Given the description of an element on the screen output the (x, y) to click on. 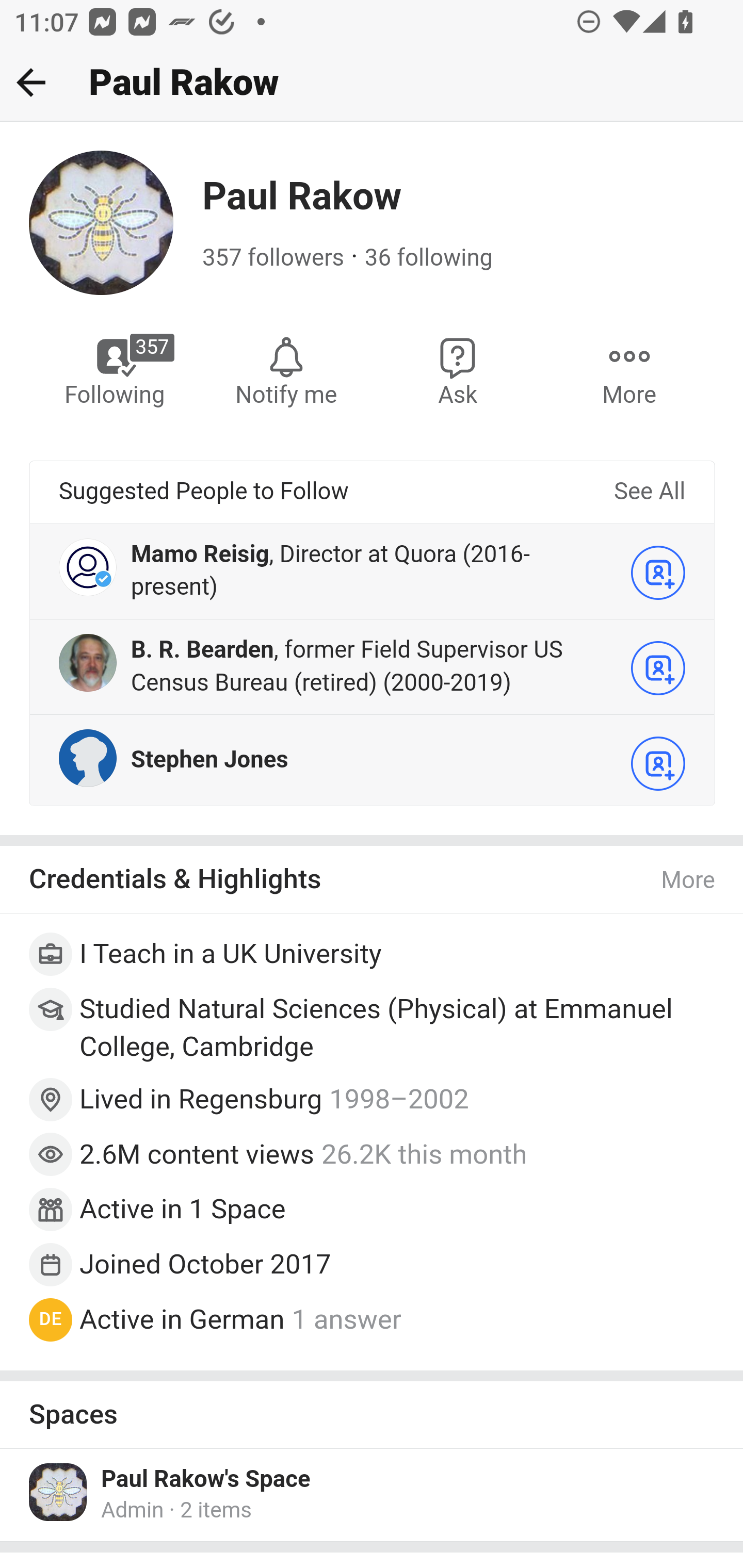
Me Home Search Add (371, 82)
Back (30, 82)
357 followers (273, 257)
36 following (428, 257)
Following Paul Rakow 357 Following (115, 370)
Notify me (285, 370)
Ask (458, 370)
More (628, 370)
See All (649, 492)
Profile photo for Mamo Reisig (87, 565)
Mamo Reisig (200, 554)
Follow Mamo Reisig (658, 572)
Profile photo for B. R. Bearden (87, 661)
B. R. Bearden (202, 648)
Follow B. R. Bearden (658, 667)
Profile photo for Stephen Jones (87, 757)
Follow Stephen Jones (658, 763)
Stephen Jones (209, 759)
More (688, 880)
Active in German Active in  German (182, 1319)
Icon for Paul Rakow's Space (58, 1491)
Paul Rakow's Space (206, 1479)
